Given the description of an element on the screen output the (x, y) to click on. 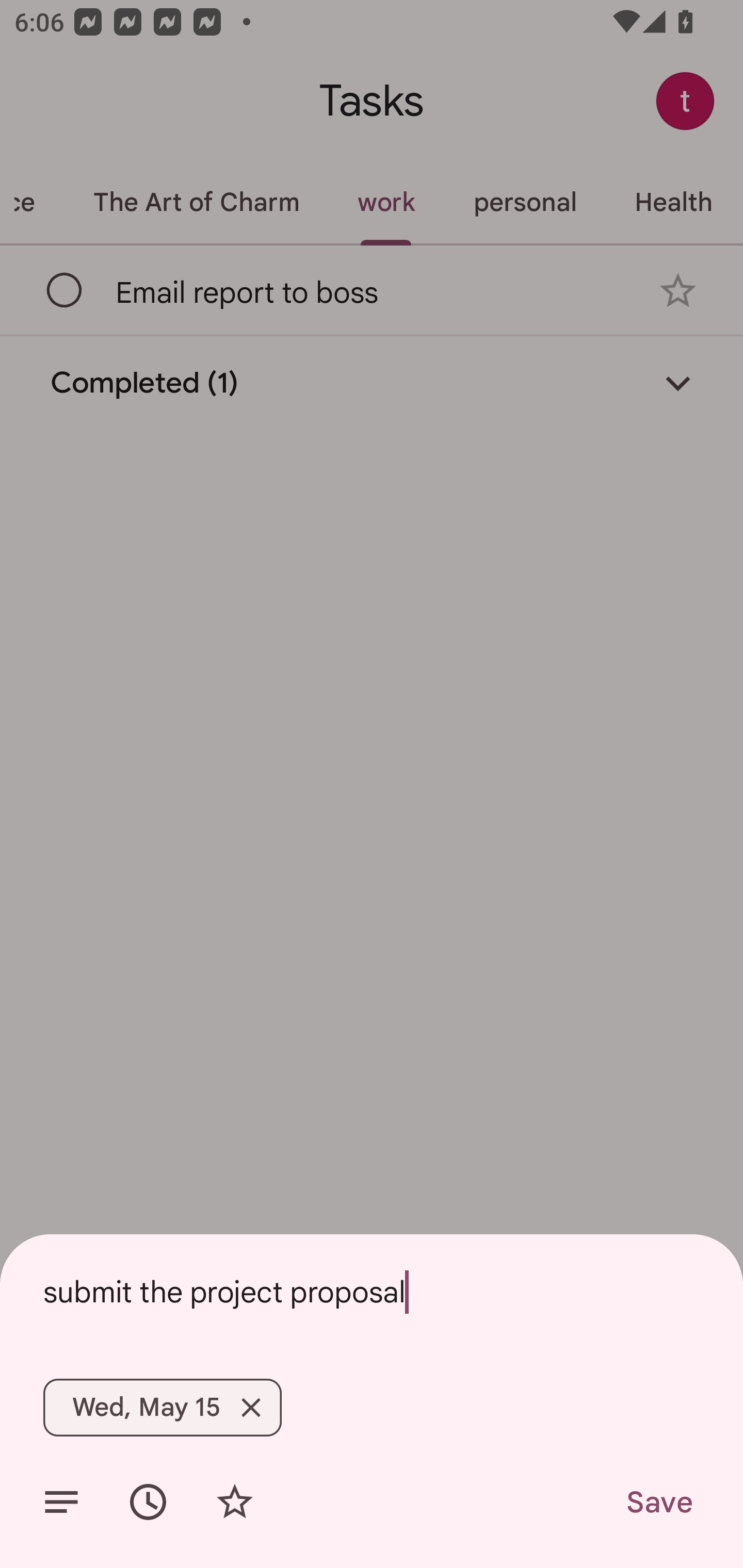
submit the project proposal (371, 1291)
Wed, May 15 Remove Wed, May 15 (162, 1407)
Save (659, 1501)
Add details (60, 1501)
Set date/time (147, 1501)
Add star (234, 1501)
